Given the description of an element on the screen output the (x, y) to click on. 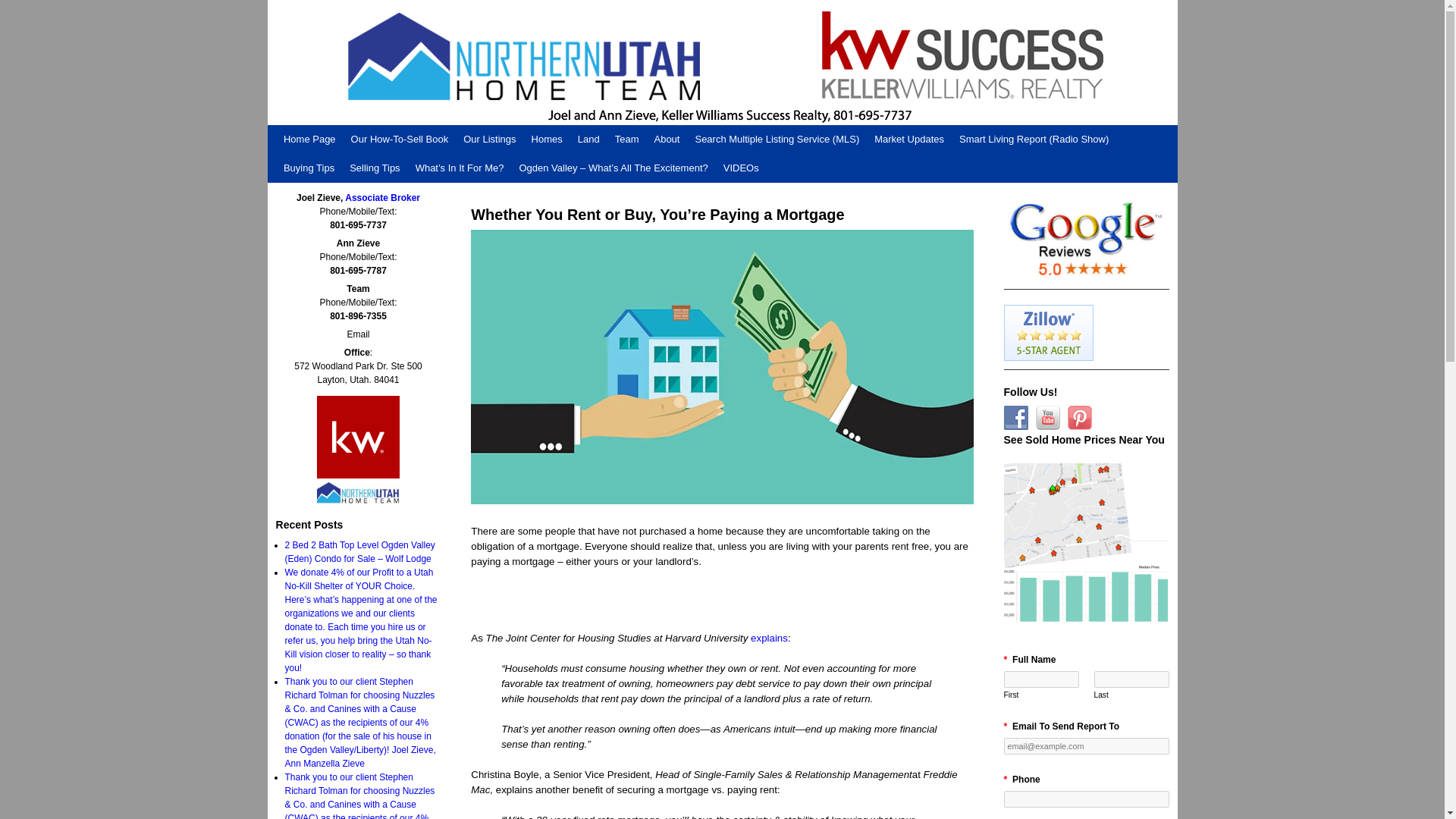
Our Listings (488, 139)
Follow Us on Pinterest (1079, 417)
Follow Us on Facebook (1015, 417)
Our How-To-Sell Book (400, 139)
explains (769, 637)
About (666, 139)
Homes (547, 139)
Buying Tips (309, 167)
Associate Broker (382, 197)
Northern Utah Home Team (721, 62)
Skip to secondary content (309, 130)
VIDEOs (741, 167)
Team (626, 139)
Market Updates (909, 139)
Skip to primary content (304, 130)
